Given the description of an element on the screen output the (x, y) to click on. 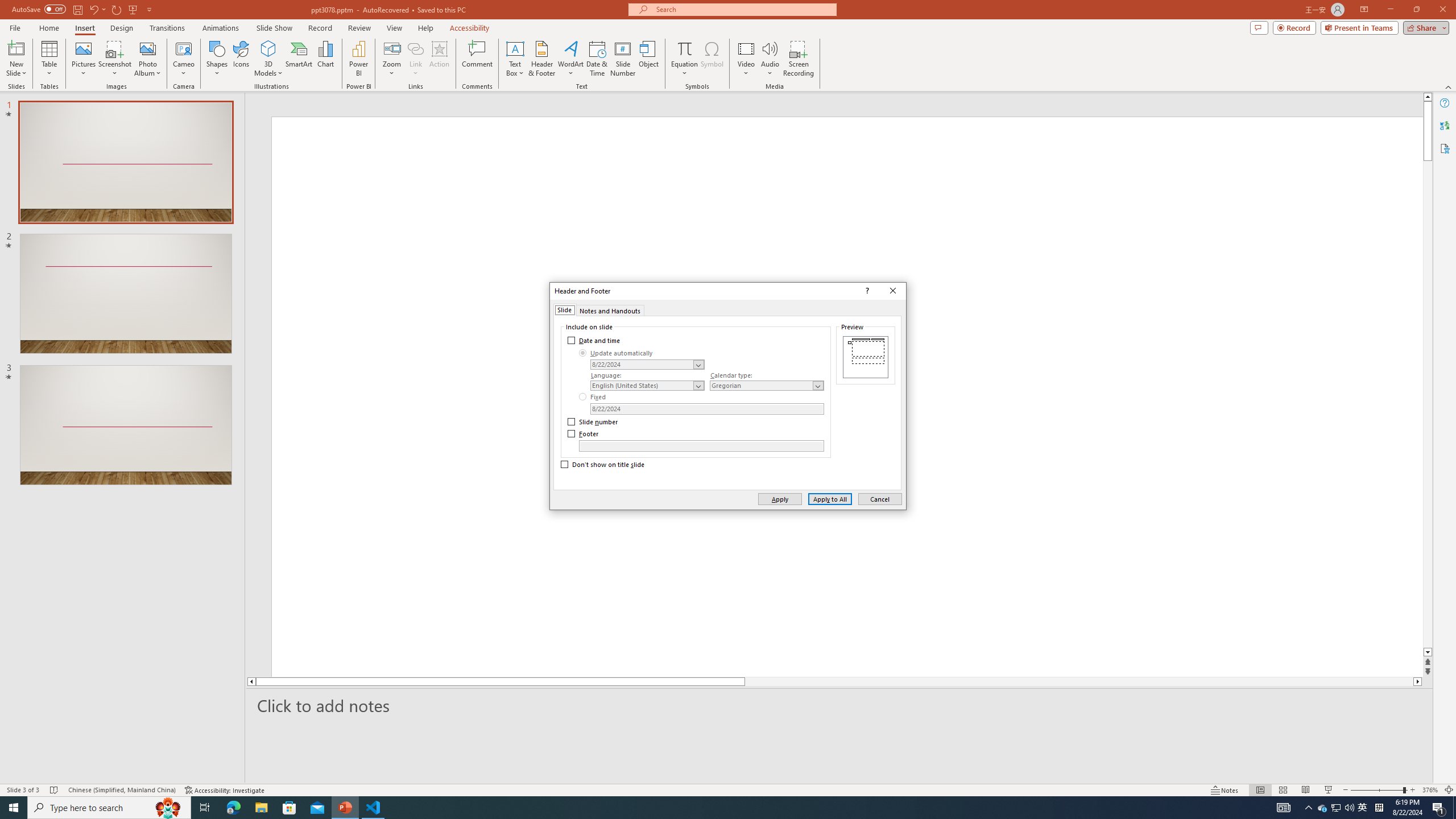
SmartArt... (298, 58)
New Photo Album... (147, 48)
Notes and Handouts (610, 309)
Header & Footer... (541, 58)
Chart... (325, 58)
Object... (649, 58)
